Given the description of an element on the screen output the (x, y) to click on. 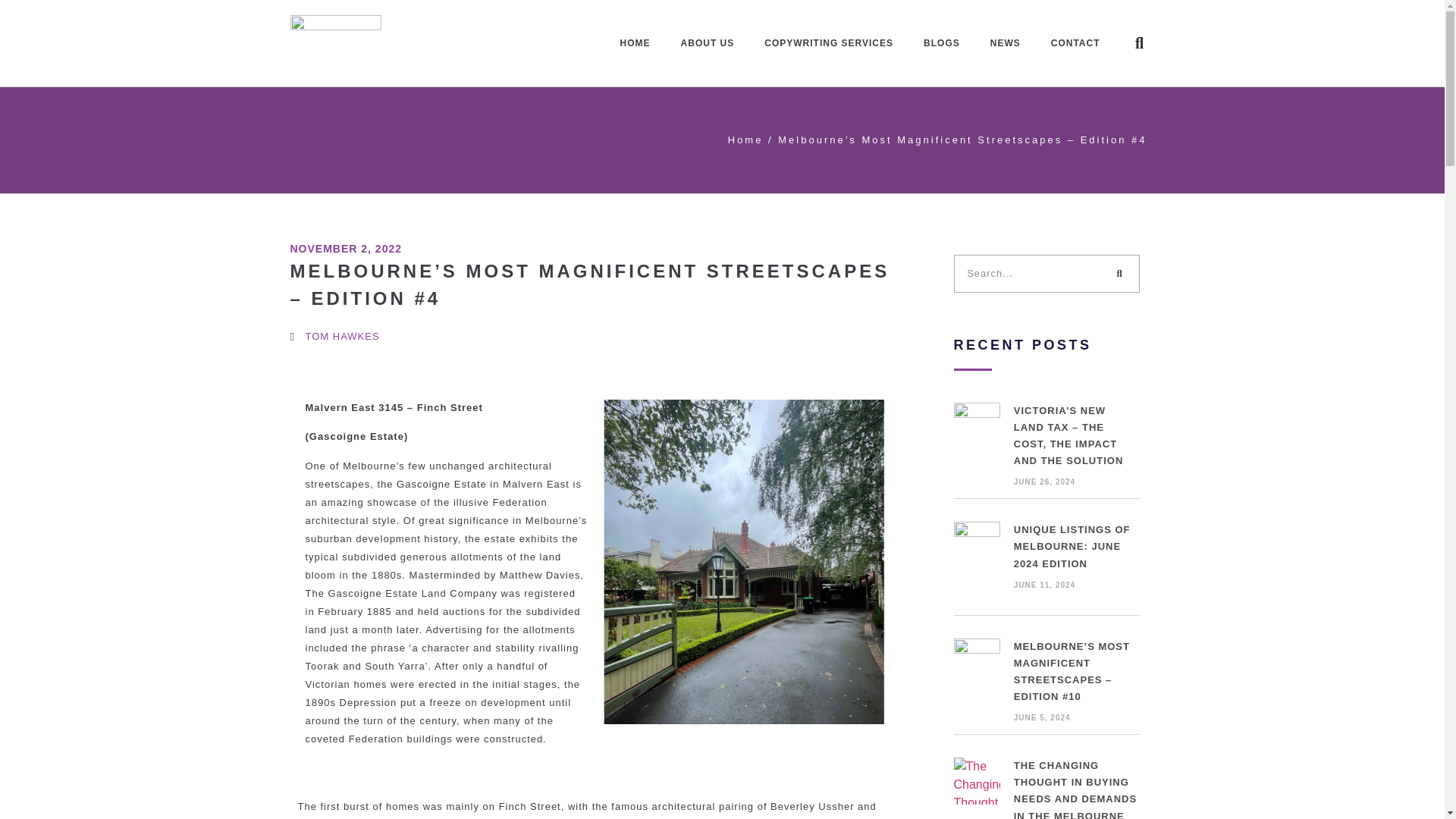
UNIQUE LISTINGS OF MELBOURNE: JUNE 2024 EDITION (1072, 546)
ABOUT US (707, 42)
COPYWRITING SERVICES (828, 42)
NOVEMBER 2, 2022 (345, 248)
CONTACT (1075, 42)
Home (745, 139)
BLOGS (941, 42)
